Given the description of an element on the screen output the (x, y) to click on. 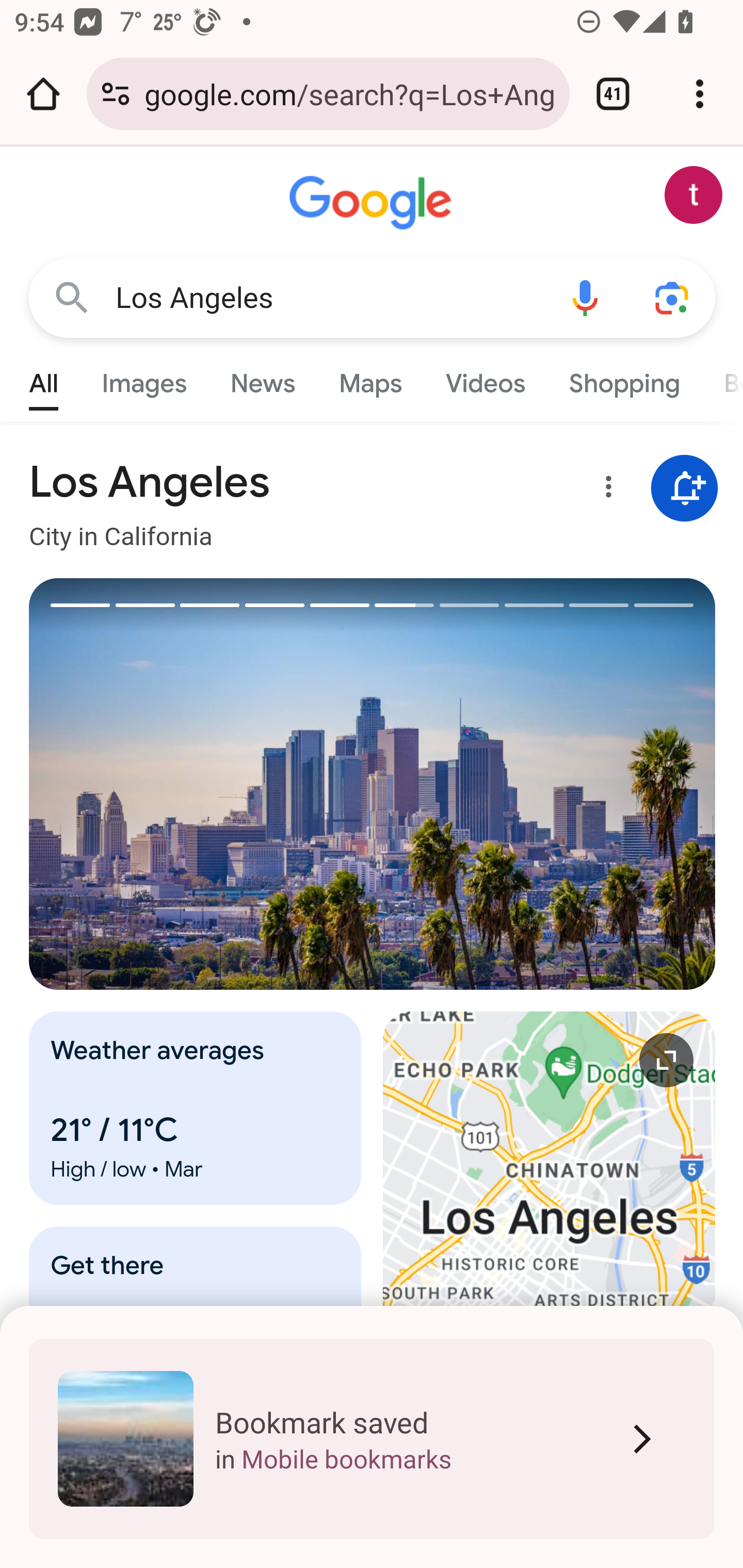
Open the home page (43, 93)
Connection is secure (115, 93)
Switch or close tabs (612, 93)
Customize and control Google Chrome (699, 93)
Google (372, 203)
Google Search (71, 296)
Search using your camera or photos (672, 296)
Los Angeles (328, 297)
Images (144, 378)
News (262, 378)
Maps (369, 378)
Videos (485, 378)
Shopping (623, 378)
Get notifications about Los Angeles (684, 489)
More options (605, 489)
Previous image (200, 783)
Next image (544, 783)
Weather averages 21° / 11°C High / low • Mar (195, 1108)
Expand map (549, 1216)
Edit folder Bookmark saved in Mobile bookmarks (371, 1439)
